Given the description of an element on the screen output the (x, y) to click on. 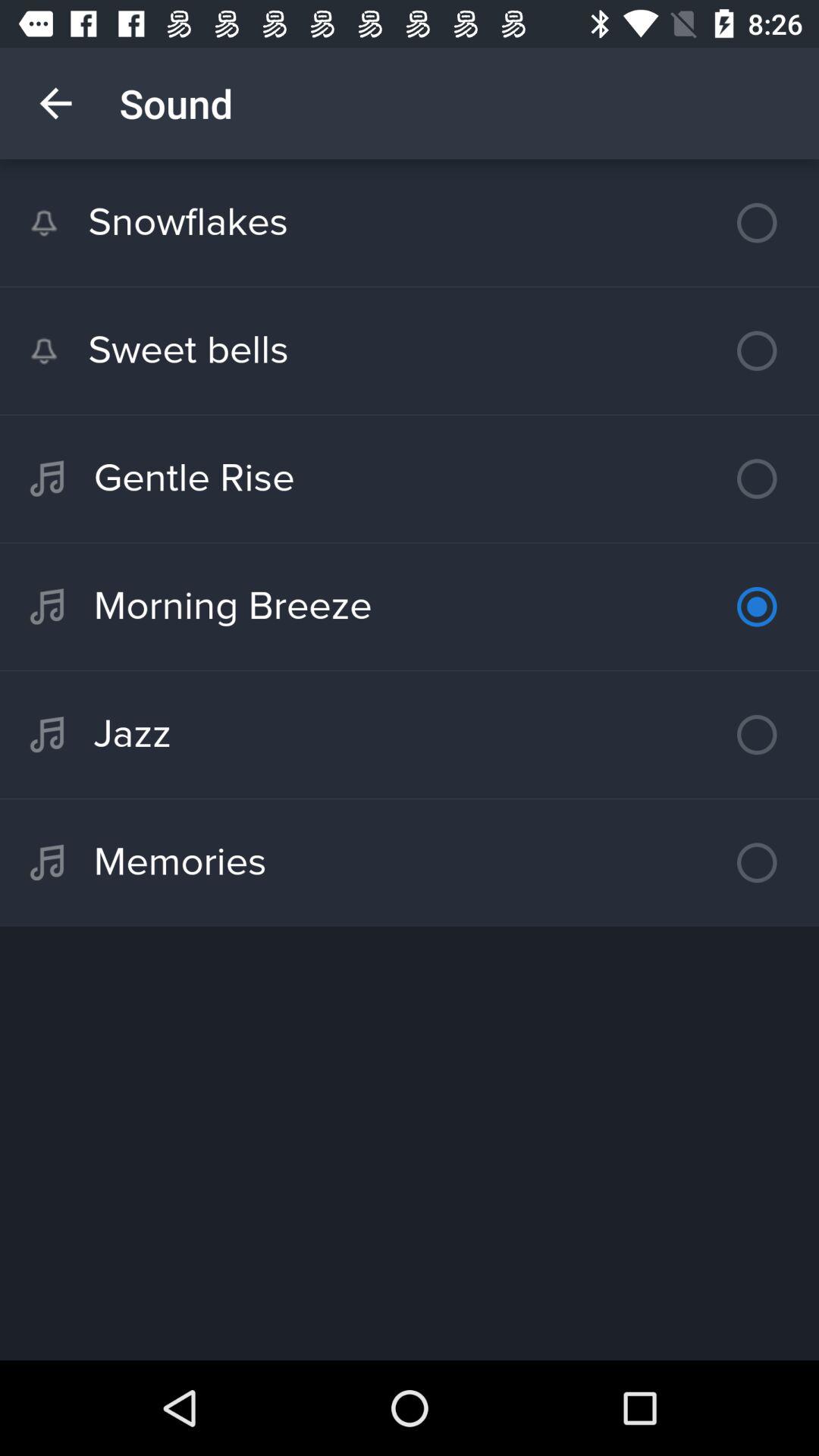
jump until jazz item (409, 734)
